Given the description of an element on the screen output the (x, y) to click on. 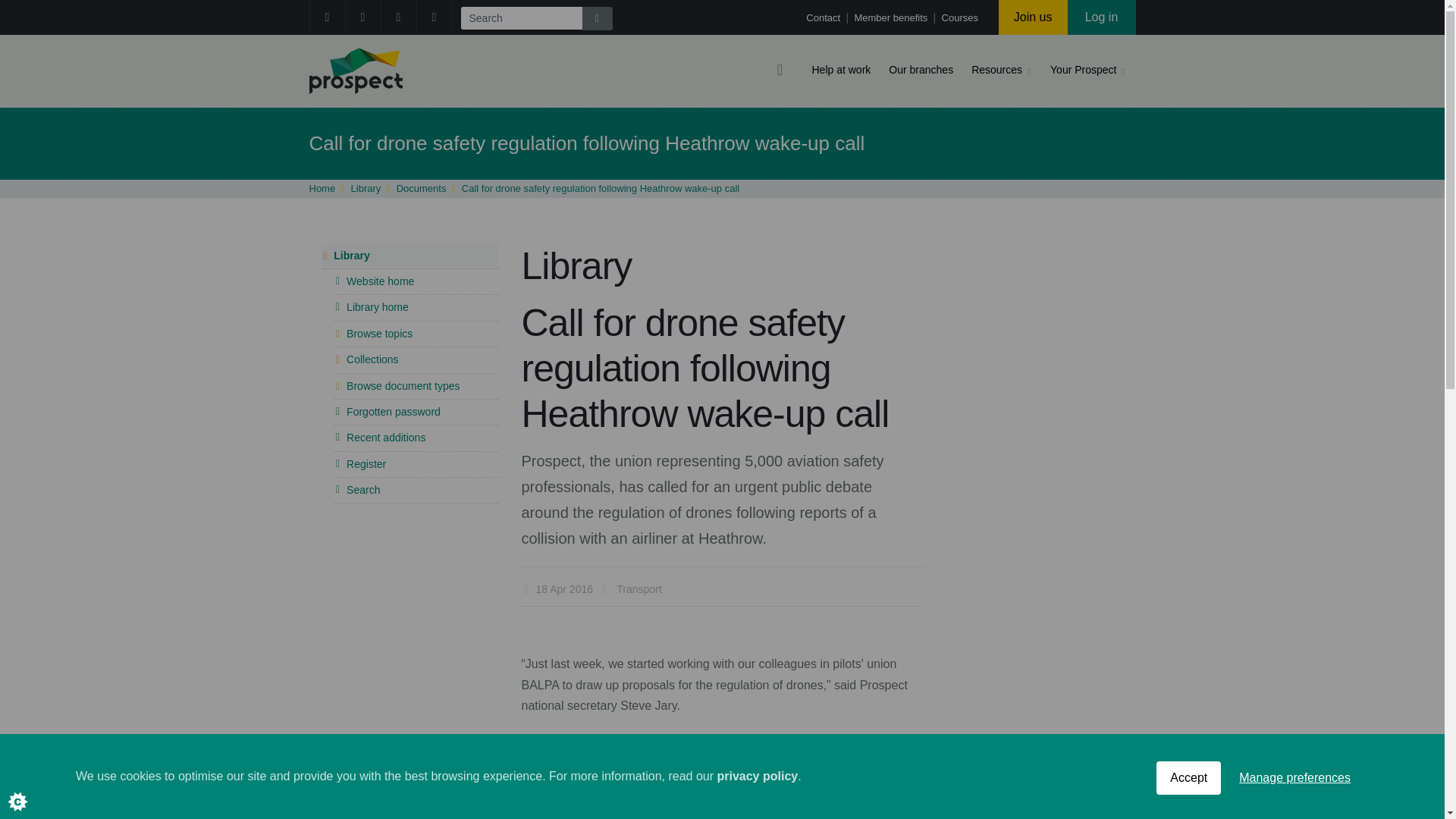
Log in (1101, 17)
Join us (1032, 17)
Courses (960, 18)
privacy policy (756, 806)
Accept (1188, 798)
Manage preferences (1294, 794)
Contact (824, 18)
Your Prospect (1082, 71)
Member benefits (891, 18)
